Given the description of an element on the screen output the (x, y) to click on. 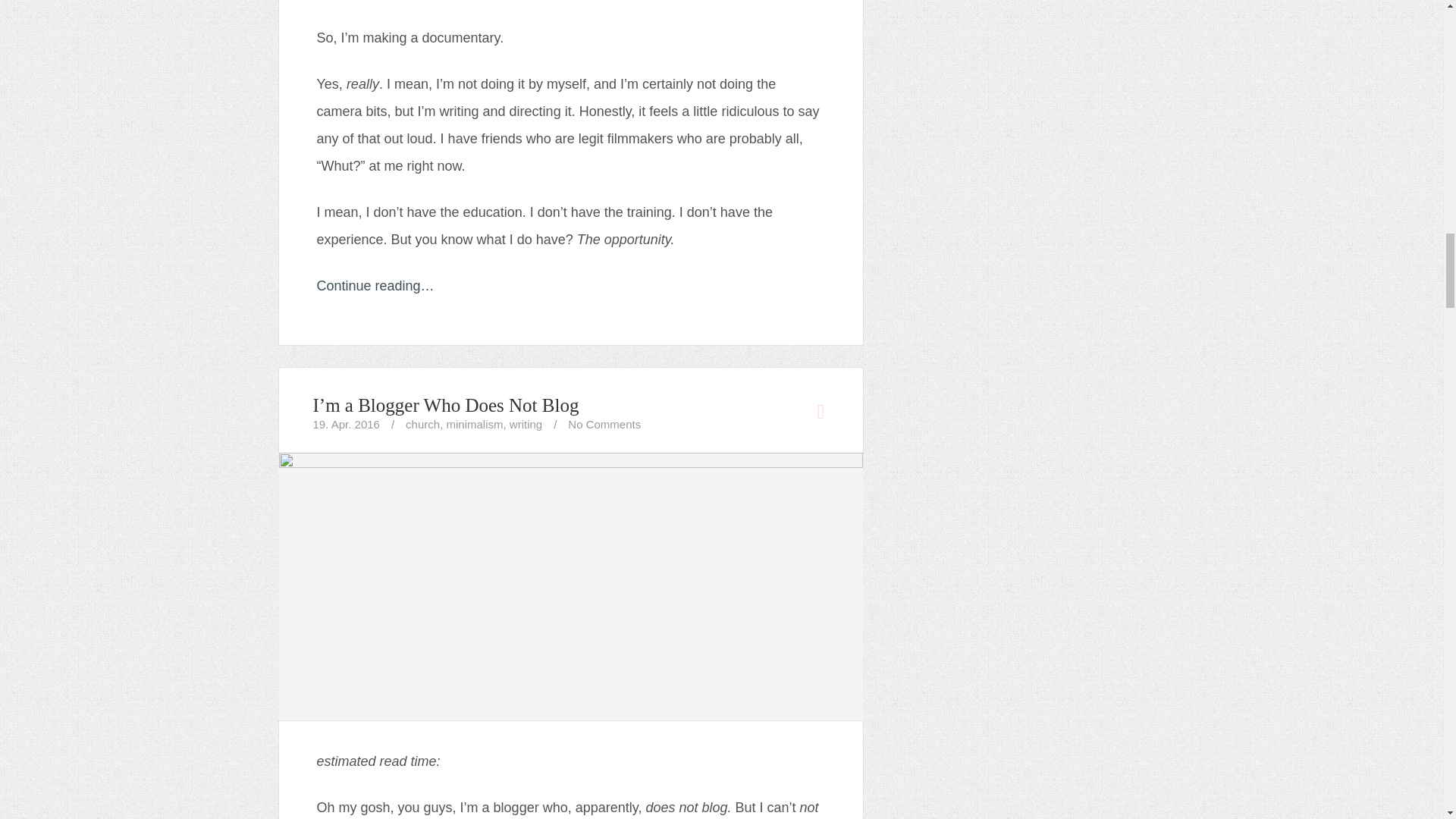
church (422, 423)
View all posts in church (422, 423)
minimalism (473, 423)
No Comments (603, 423)
writing (525, 423)
